Given the description of an element on the screen output the (x, y) to click on. 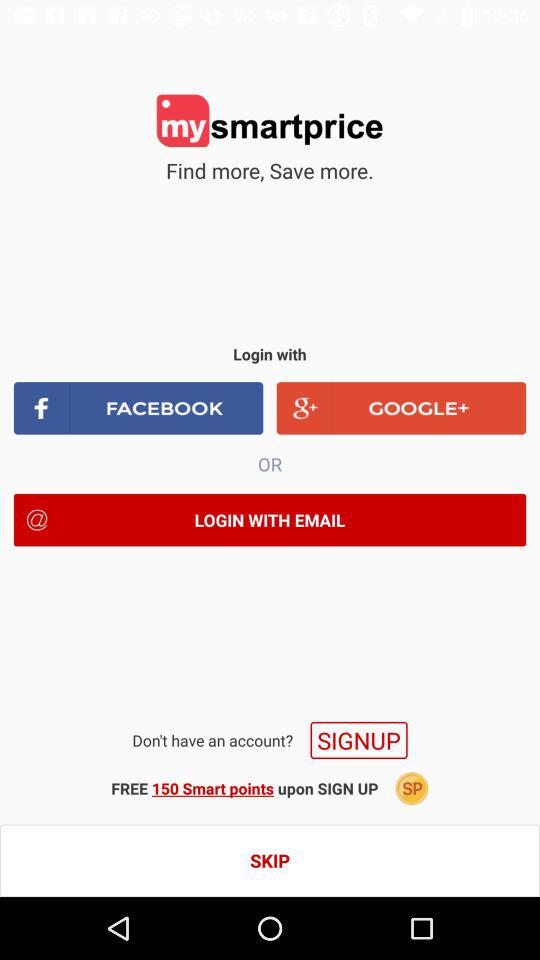
click the item below the signup icon (411, 788)
